Given the description of an element on the screen output the (x, y) to click on. 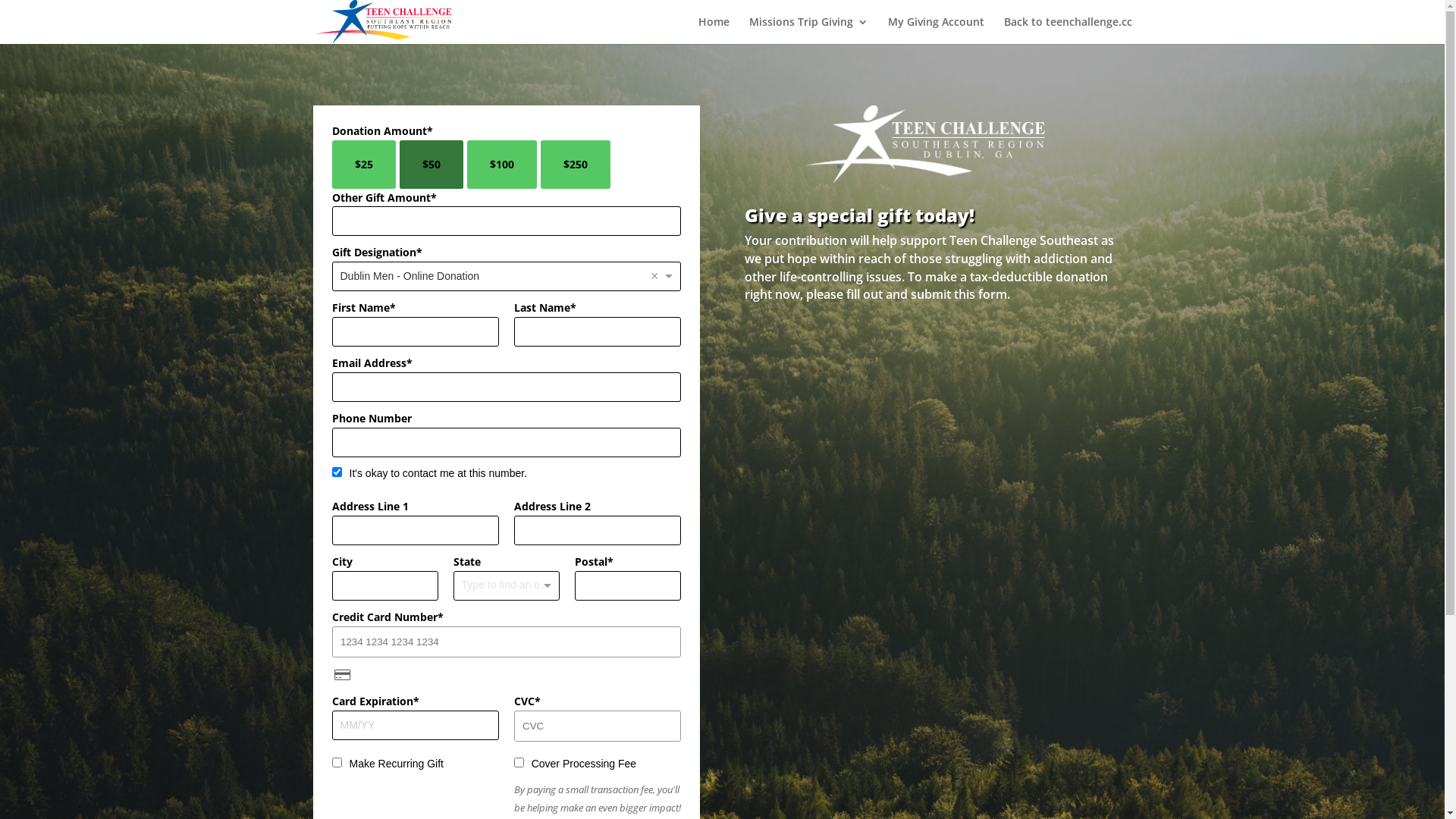
$250 Element type: text (574, 164)
My Giving Account Element type: text (935, 29)
Back to teenchallenge.cc Element type: text (1068, 29)
$100 Element type: text (501, 164)
Missions Trip Giving Element type: text (808, 29)
$50 Element type: text (430, 164)
Home Element type: text (712, 29)
$25 Element type: text (363, 164)
